Given the description of an element on the screen output the (x, y) to click on. 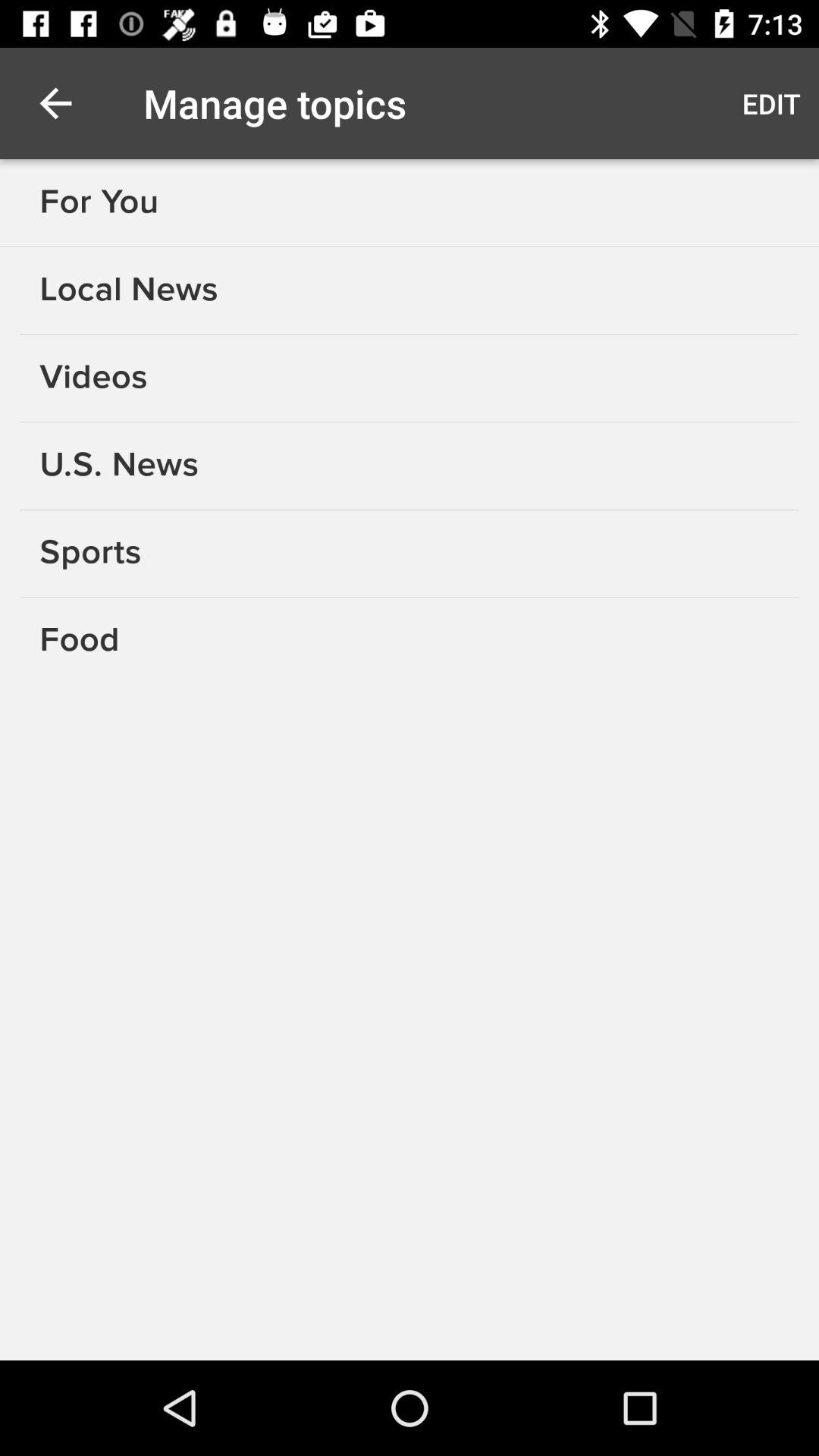
press the item to the right of manage topics (771, 103)
